Given the description of an element on the screen output the (x, y) to click on. 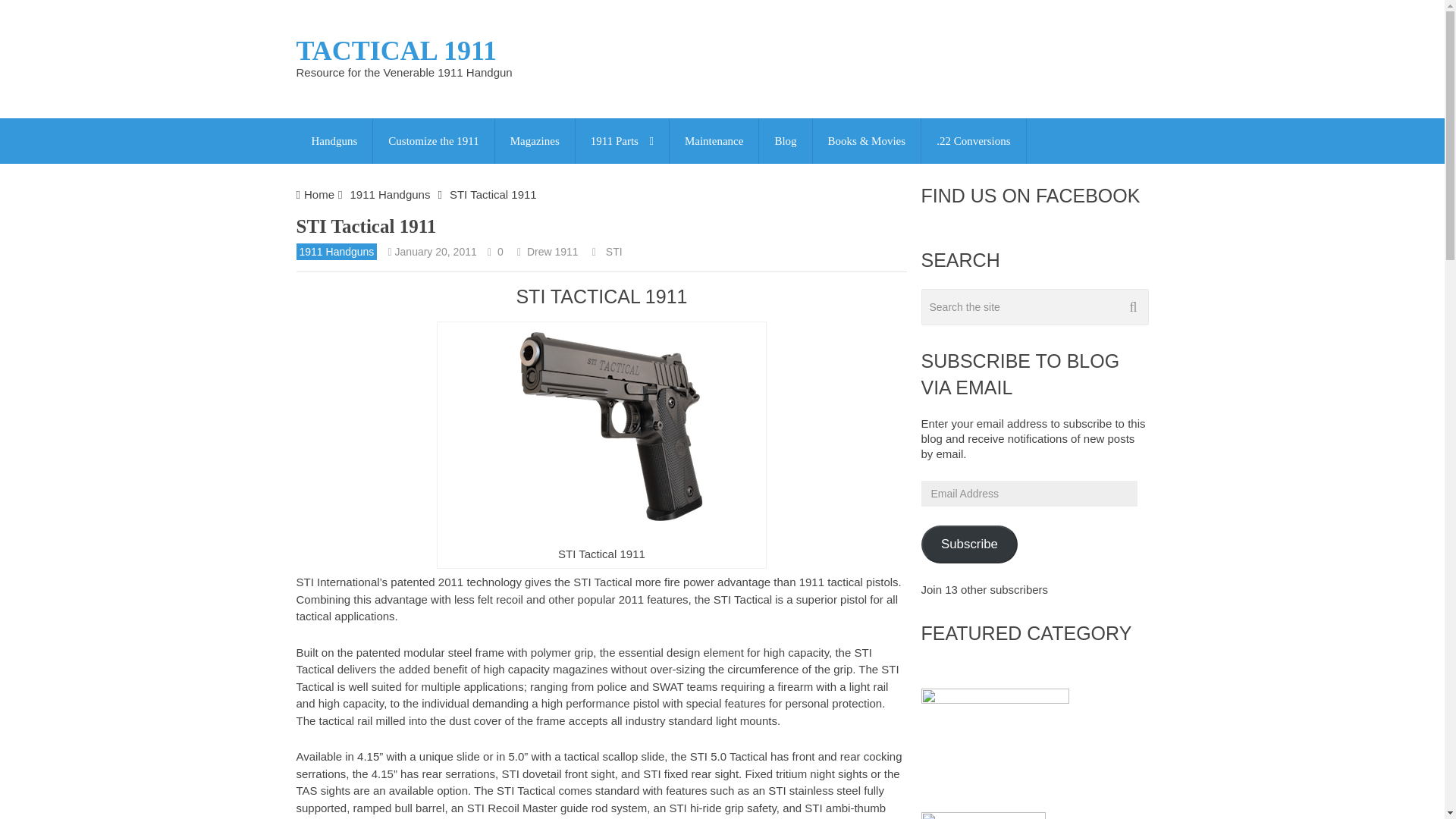
Drew 1911 (552, 251)
Handguns (333, 140)
.22 Conversions (973, 140)
View all posts in 1911 Handguns (336, 251)
Customize the 1911 Pistol (432, 140)
Magazines (535, 140)
Maintain the 1911 Pistol (713, 140)
1911 .22 Conversion (973, 140)
Maintenance (713, 140)
Home (319, 194)
